Given the description of an element on the screen output the (x, y) to click on. 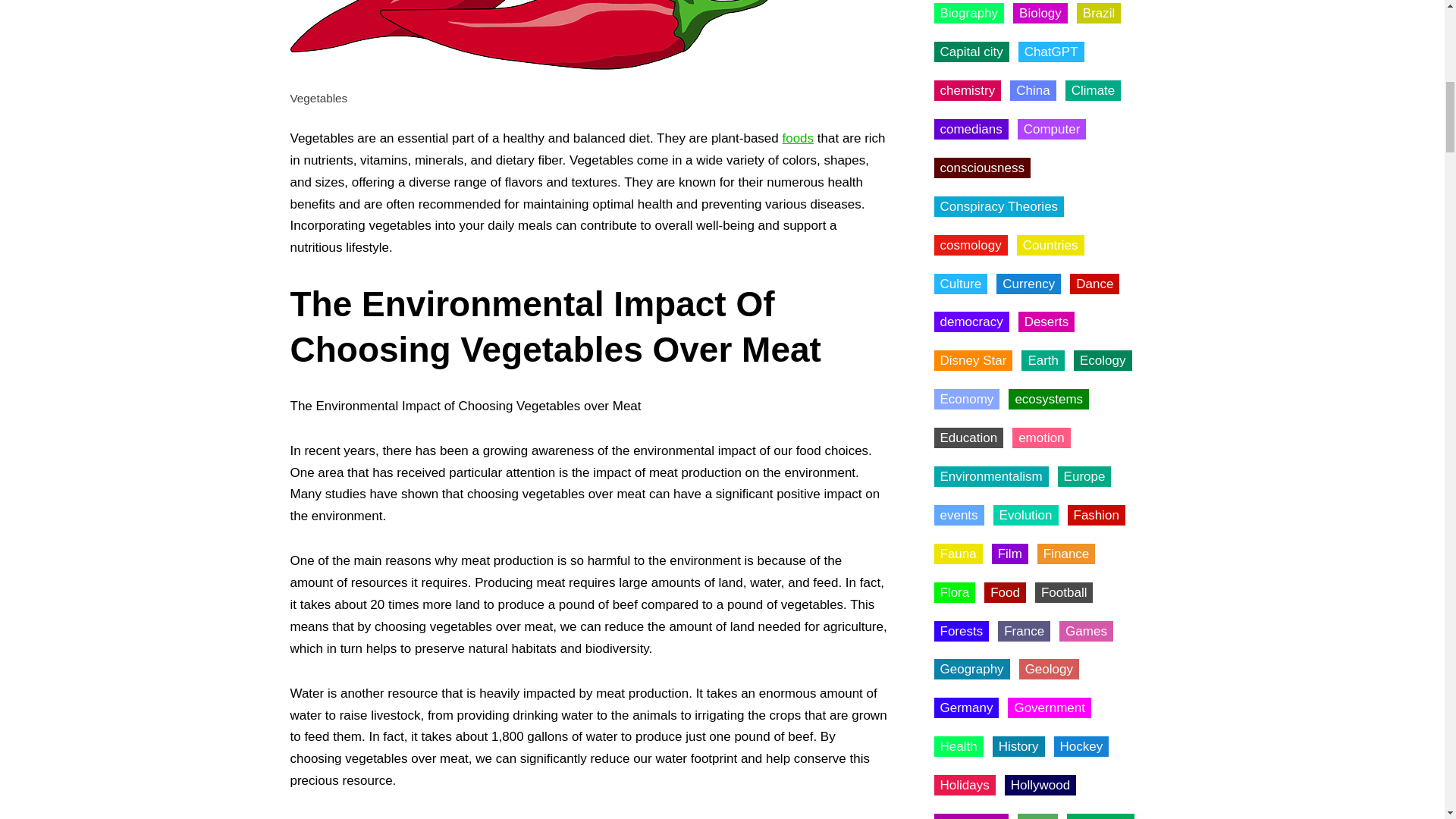
Vegetables 1 (531, 40)
